Given the description of an element on the screen output the (x, y) to click on. 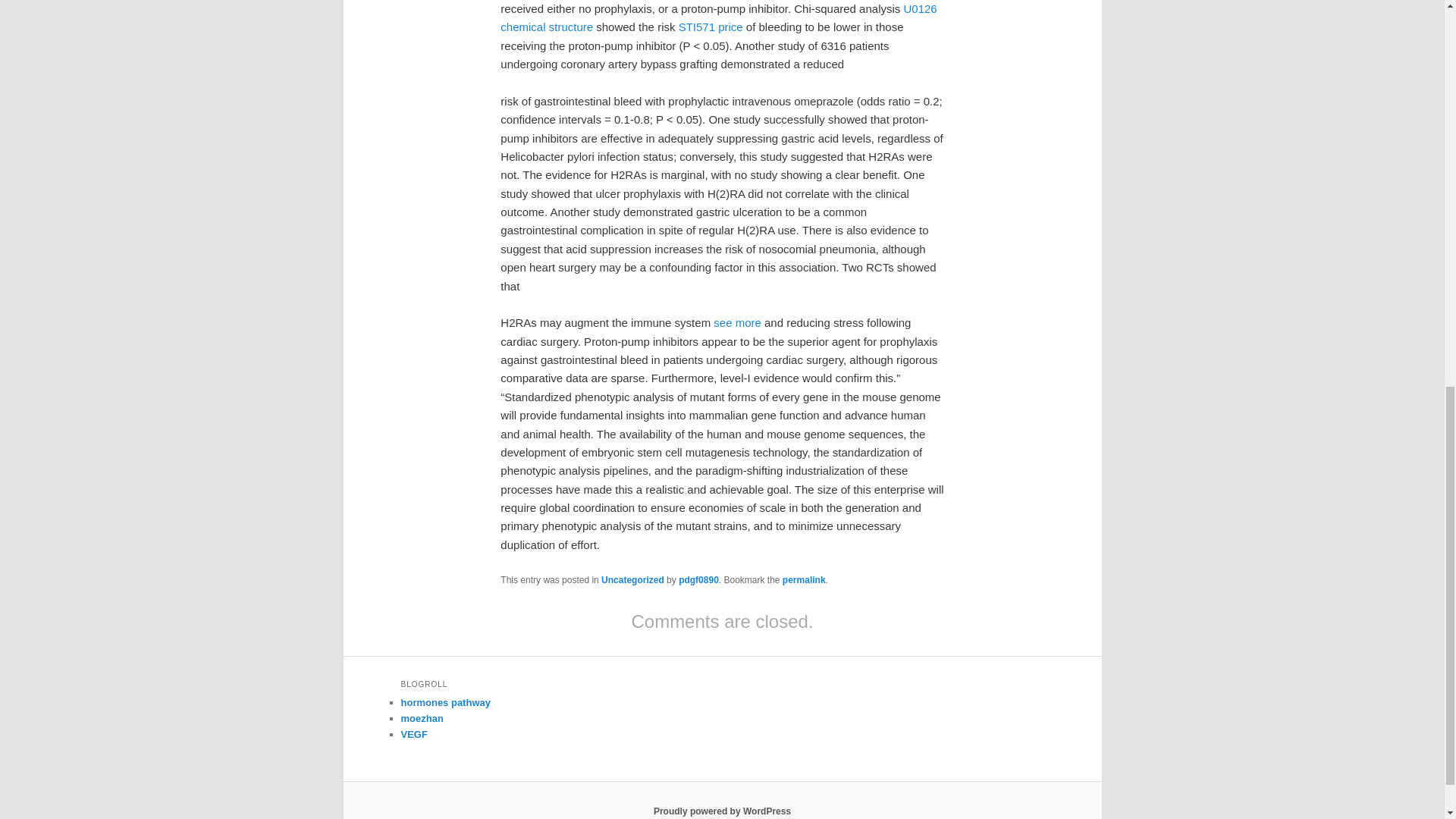
View all posts in Uncategorized (632, 579)
moezhan (421, 717)
pdgf0890 (698, 579)
Proudly powered by WordPress (721, 810)
Uncategorized (632, 579)
Semantic Personal Publishing Platform (721, 810)
VEGF (413, 734)
U0126 chemical structure (718, 17)
STI571 price (710, 26)
permalink (804, 579)
hormones pathway (444, 702)
see more (737, 322)
